Given the description of an element on the screen output the (x, y) to click on. 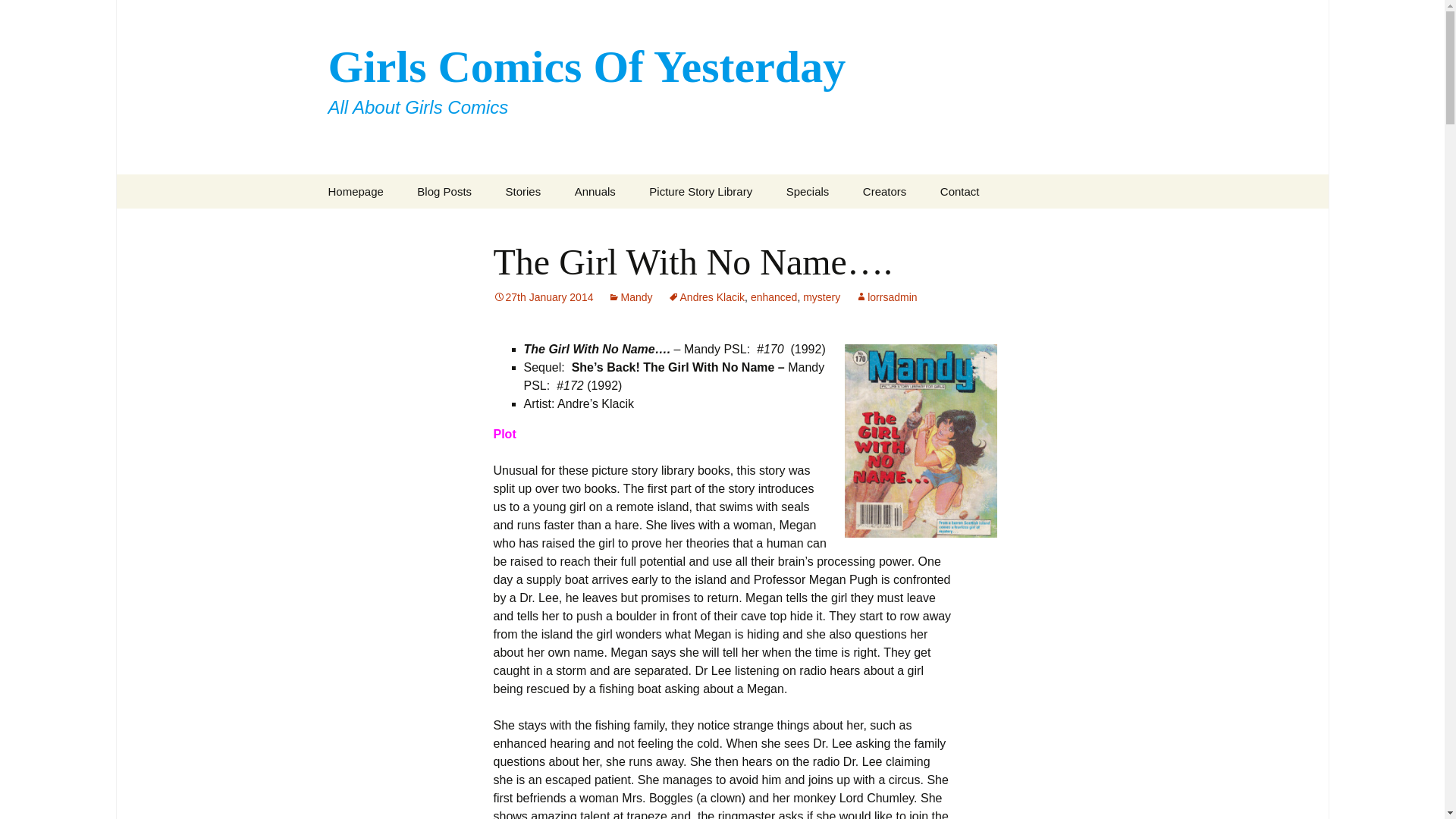
Picture Story Library (700, 191)
Andres Klacik (706, 297)
Bunty Annuals (635, 225)
Mandy (630, 297)
Annuals (594, 191)
27th January 2014 (542, 297)
Specials (807, 191)
Bunty Specials (847, 225)
Stories (566, 225)
Blog Posts (523, 191)
Bunty Picture Story Library (443, 191)
Contact (709, 230)
